Given the description of an element on the screen output the (x, y) to click on. 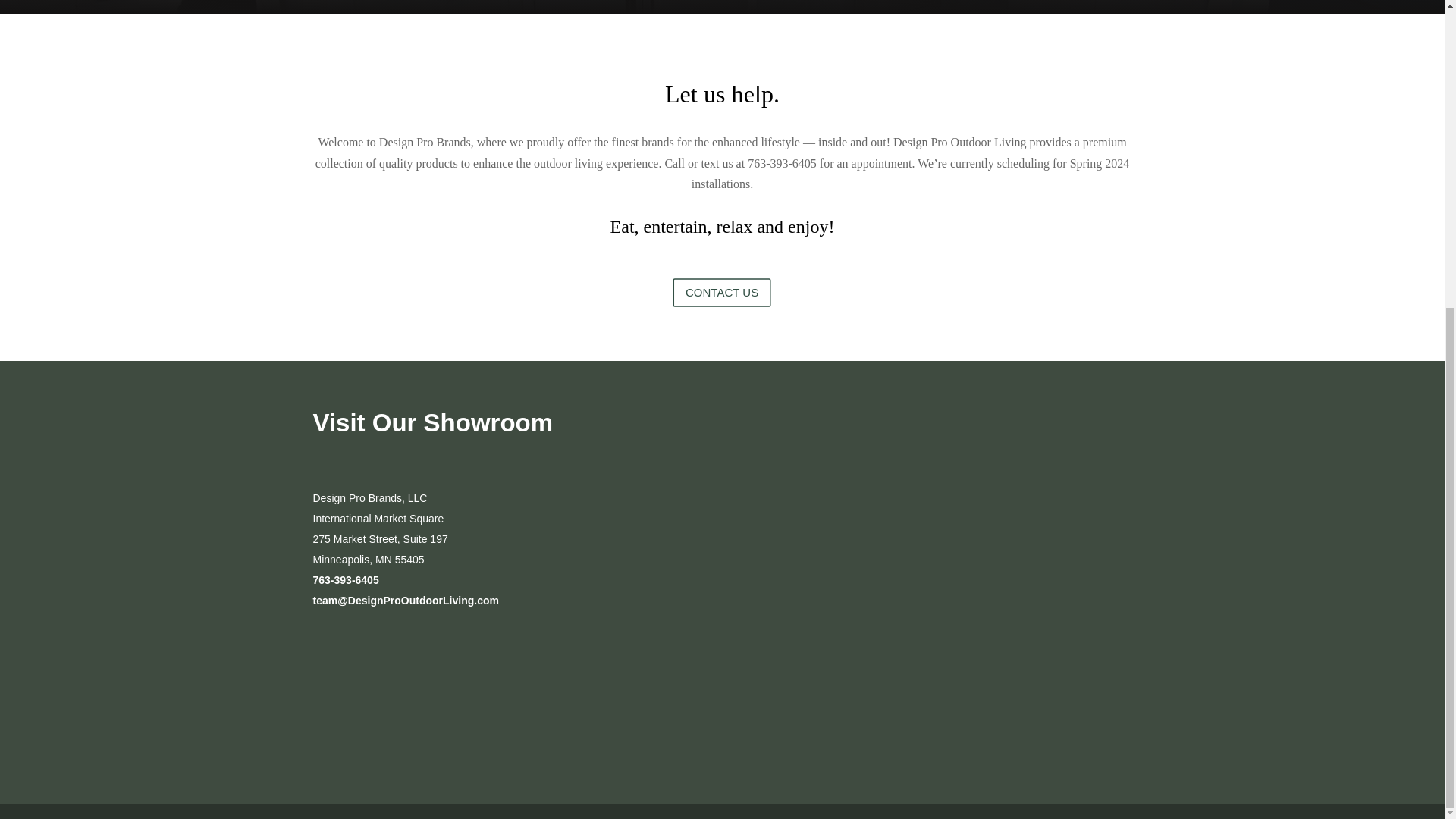
CONTACT US (737, 297)
